Given the description of an element on the screen output the (x, y) to click on. 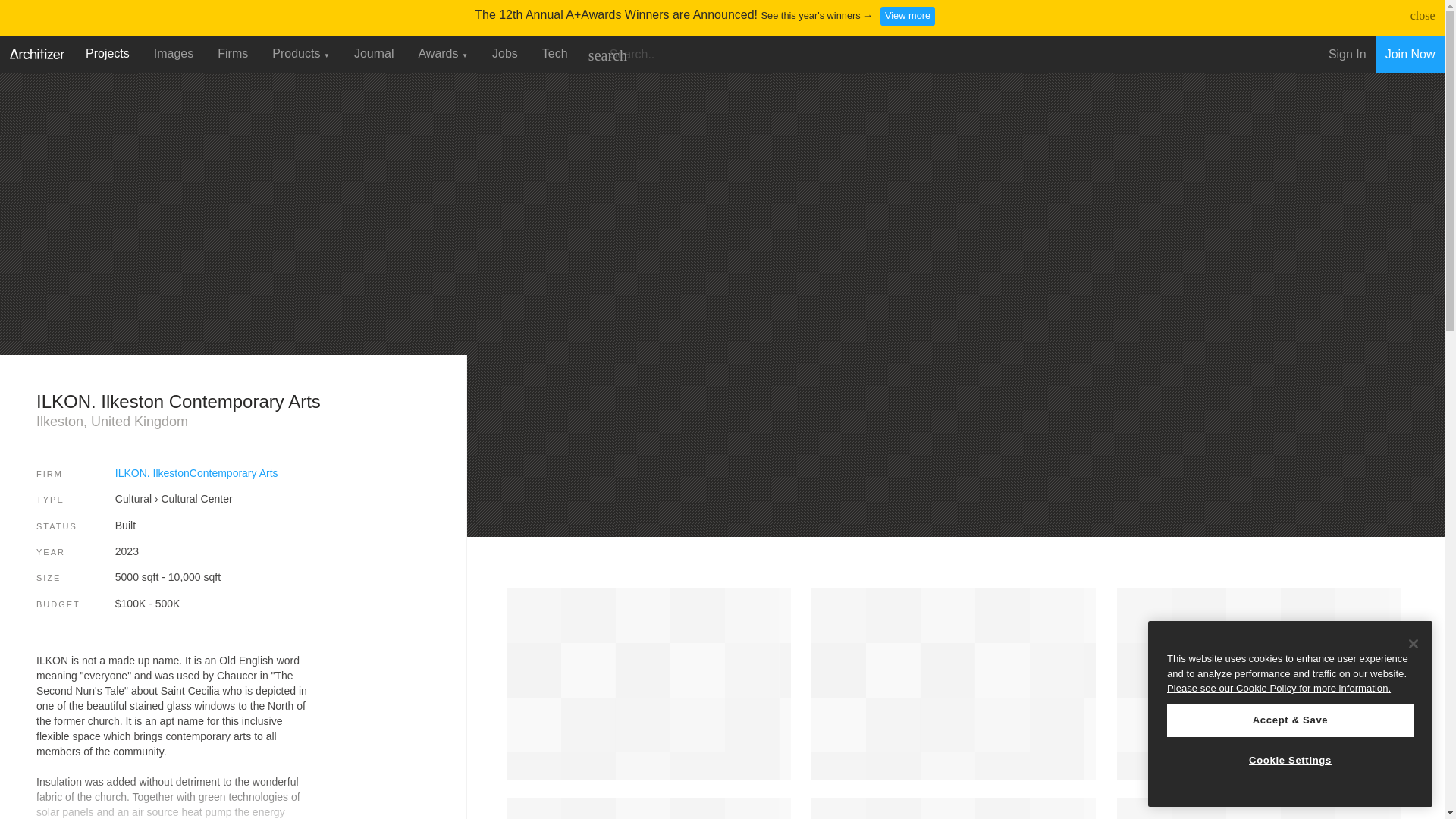
close (1422, 15)
Tech (554, 53)
Firms (232, 53)
Images (173, 53)
Jobs (504, 53)
Architizer (36, 51)
search (606, 55)
Sign In (1347, 54)
Projects (107, 53)
Journal (374, 53)
